Given the description of an element on the screen output the (x, y) to click on. 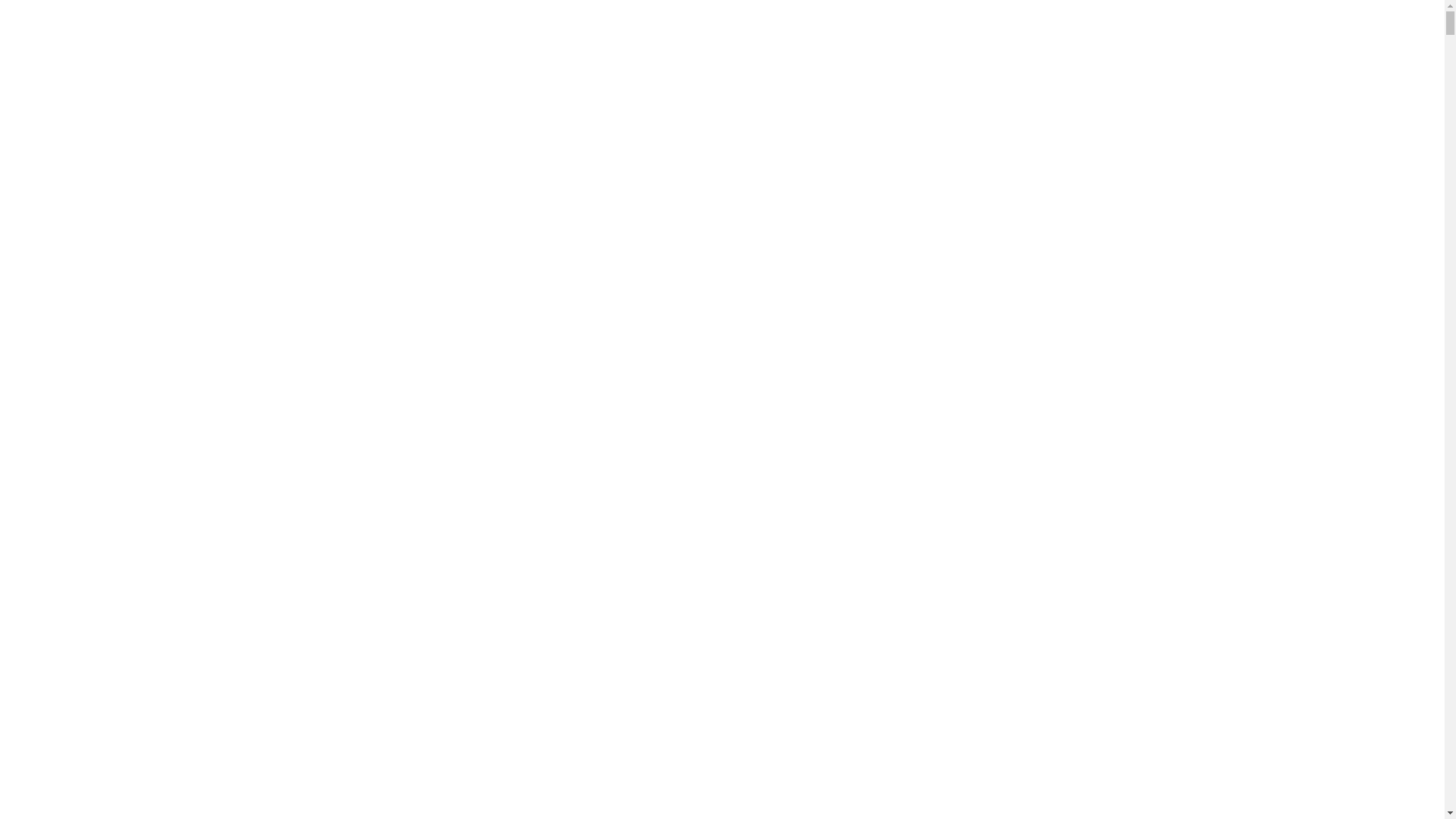
LAREMSEWEG Element type: hover (821, 526)
MIDDELSTE KOMMEN FASE 4 Element type: hover (821, 464)
LINDEKENSVELD Element type: hover (821, 495)
HOLLEWEG Element type: hover (821, 38)
HERENTHOUTSEWEG Element type: hover (821, 605)
MARIA-THERESIALEI Element type: hover (821, 290)
MIERENBERGPARK Element type: hover (821, 542)
GENK VENNESTRAAT Element type: hover (821, 479)
F2 REYNDERSSTRAAT Element type: hover (821, 574)
TURNHOUTSEWEG Element type: hover (821, 85)
EIKENLEI Element type: hover (821, 589)
GENEIKEN Element type: hover (821, 6)
DIEPENBEEK Element type: hover (821, 259)
POMPSTRAAT Element type: hover (821, 53)
SITE CARREFOUR Element type: hover (821, 511)
SOETEBEEK Element type: hover (821, 668)
NIJLEN INTERIEUR Element type: hover (821, 779)
TONGERLOSTRAAT Element type: hover (821, 69)
MELKHOEK Element type: hover (821, 637)
LINDEKENDSVELD FASE 2 Element type: hover (821, 354)
RUISELEDE Element type: hover (821, 275)
VENNESTRAAT Element type: hover (821, 716)
STATIONSSTRAAT Element type: hover (821, 369)
NIJLEN FASE 2 Element type: hover (821, 164)
LINDEHOEVE Element type: hover (821, 621)
RANSBERG Element type: hover (821, 306)
EIKENLEI FASE 2 Element type: hover (821, 117)
3D visualisatie Element type: text (1262, 37)
JJ Element type: hover (821, 432)
TIENSESTRAAT Element type: hover (821, 385)
EINDHOUT Element type: hover (821, 211)
VELDENBERG RESORT Element type: hover (821, 700)
LEPELSTRAAT Element type: hover (821, 132)
DESSEL FASE 2 Element type: hover (821, 322)
VEELSEBAAN Element type: hover (821, 243)
GROOTHEIDE 52 Element type: hover (821, 653)
HOOGSTRATEN Element type: hover (821, 22)
NIJLEN EXTERIEUR Element type: hover (821, 763)
KAPELSTRAAT OUDSBERGEN Element type: hover (821, 448)
KAPELLEN Element type: hover (821, 196)
MANHEUVELS Element type: hover (821, 148)
VR / animatie Element type: text (1352, 37)
OUDSBERGEN Element type: hover (821, 732)
KESSEL Element type: hover (821, 747)
Alle Element type: text (1193, 37)
LEUVEN Element type: hover (821, 338)
info@daanbeugels.be Element type: text (60, 735)
NIJLEN VR vooraanzicht Element type: hover (821, 795)
GEMEENTEHEIDE Element type: hover (821, 180)
LUMMEN Element type: hover (821, 227)
Tessenderlo Element type: hover (821, 417)
RUISELEDE FASE 2 Element type: hover (821, 101)
ORLEANSTOREN Element type: hover (821, 684)
STENENHUISSTRAAT Element type: hover (821, 558)
GROENSTRAAT Element type: hover (821, 401)
DESSEL Element type: hover (821, 811)
